Given the description of an element on the screen output the (x, y) to click on. 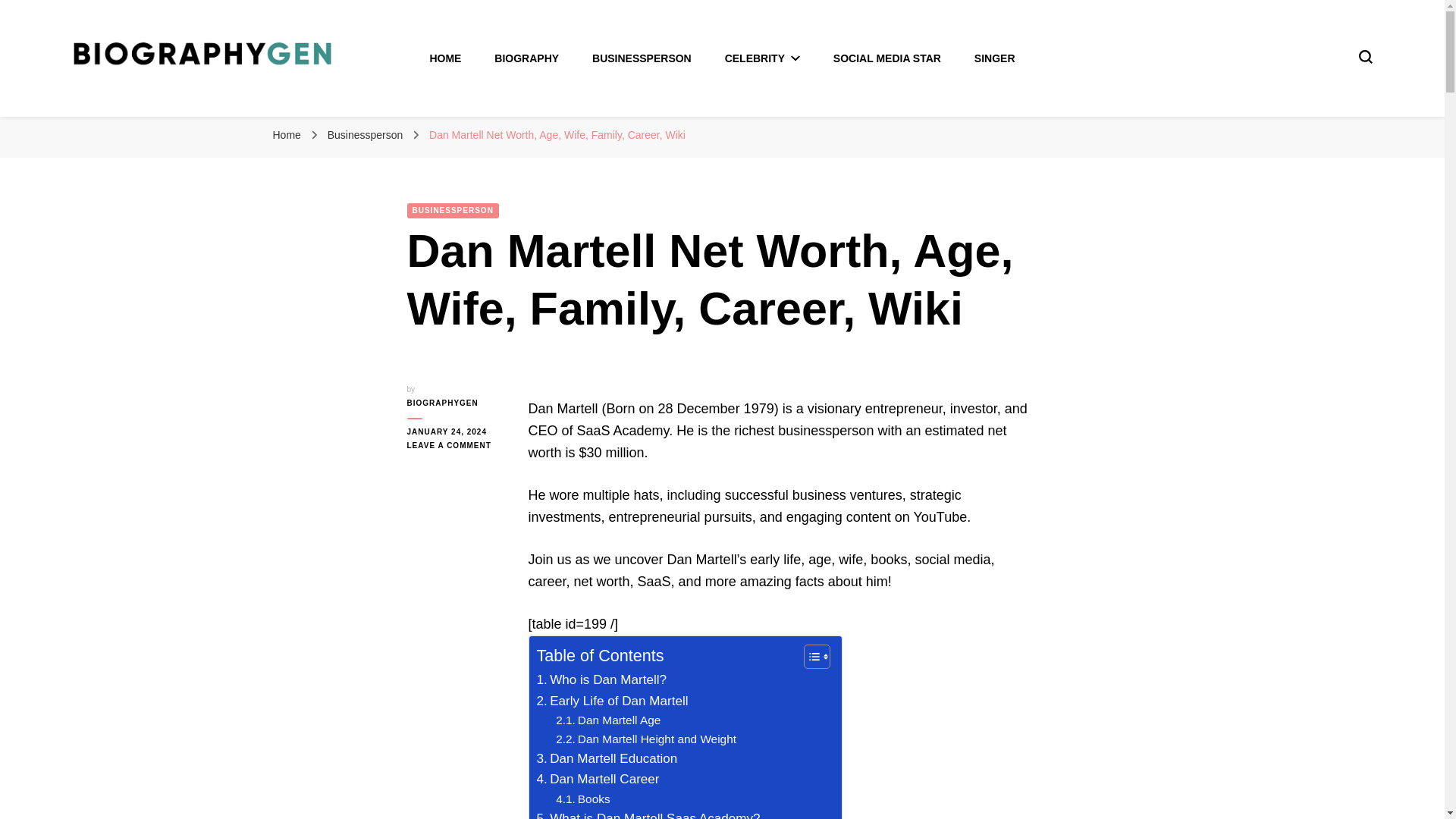
Dan Martell Height and Weight (646, 738)
SOCIAL MEDIA STAR (886, 58)
CELEBRITY (762, 58)
Home (287, 134)
JANUARY 24, 2024 (455, 431)
BIOGRAPHY (527, 58)
Businessperson (366, 134)
Who is Dan Martell? (601, 679)
Dan Martell Net Worth, Age, Wife, Family, Career, Wiki (557, 134)
SINGER (994, 58)
